Given the description of an element on the screen output the (x, y) to click on. 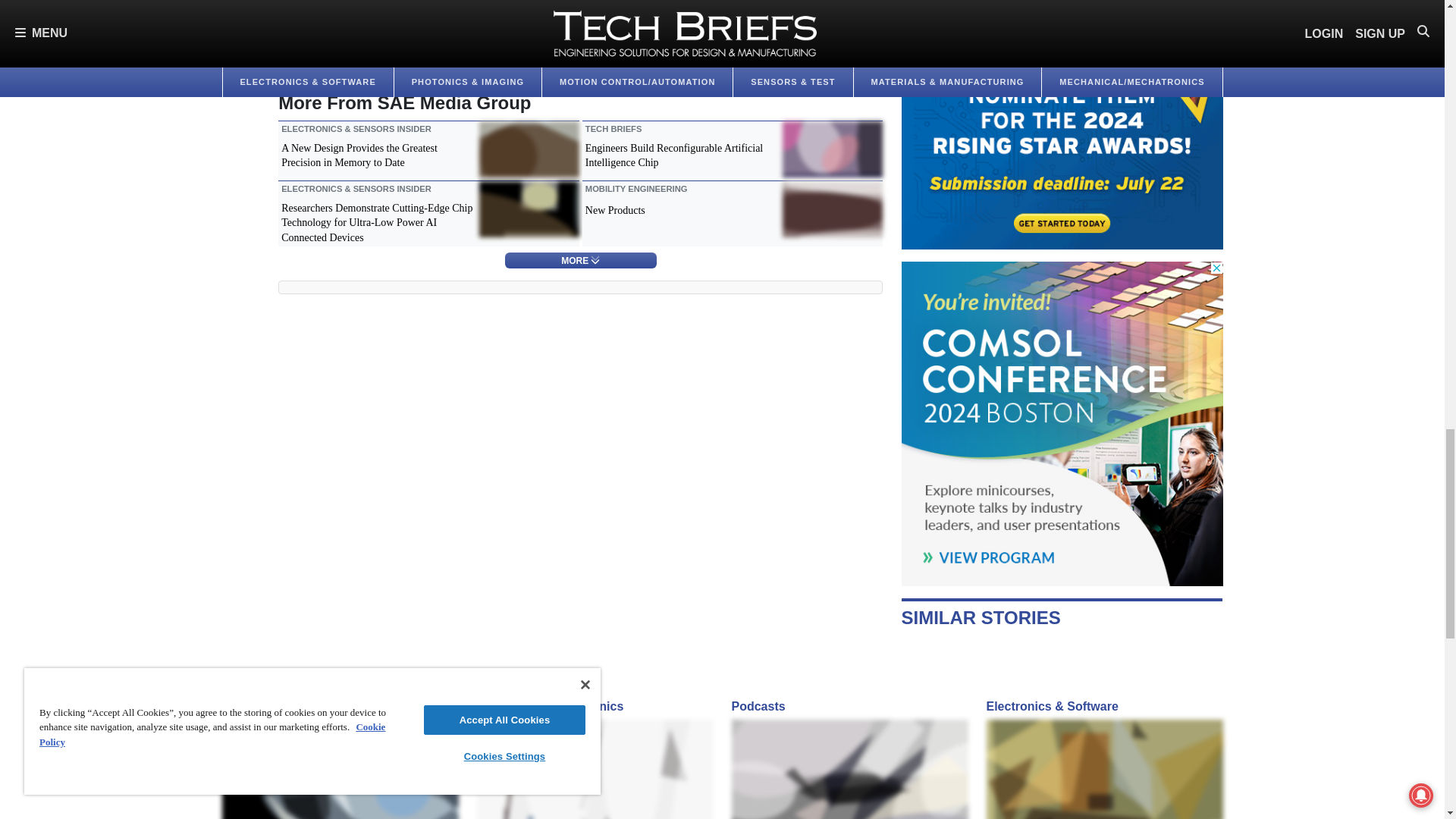
3rd party ad content (1062, 423)
3rd party ad content (1062, 124)
